Given the description of an element on the screen output the (x, y) to click on. 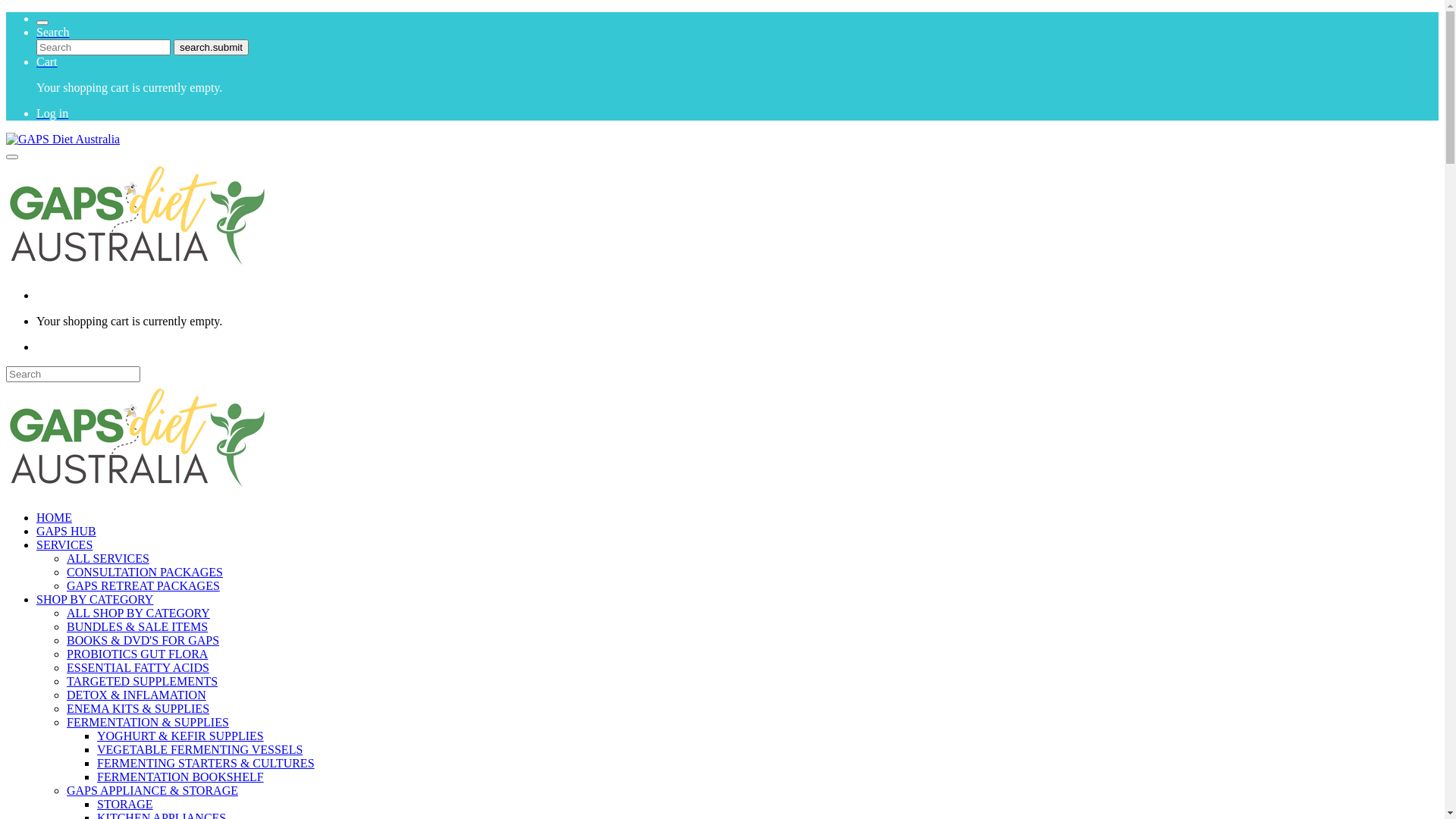
GAPS APPLIANCE & STORAGE Element type: text (152, 790)
SHOP BY CATEGORY Element type: text (94, 599)
VEGETABLE FERMENTING VESSELS Element type: text (199, 749)
Log in Element type: text (52, 112)
TARGETED SUPPLEMENTS Element type: text (141, 680)
ENEMA KITS & SUPPLIES Element type: text (137, 708)
Cart Element type: text (46, 61)
ESSENTIAL FATTY ACIDS Element type: text (137, 667)
FERMENTATION & SUPPLIES Element type: text (147, 721)
GAPS HUB Element type: text (66, 530)
STORAGE Element type: text (125, 803)
FERMENTING STARTERS & CULTURES Element type: text (205, 762)
search.submit Element type: text (210, 47)
ALL SHOP BY CATEGORY Element type: text (138, 612)
ALL SERVICES Element type: text (107, 558)
PROBIOTICS GUT FLORA Element type: text (136, 653)
GAPS RETREAT PACKAGES Element type: text (142, 585)
CONSULTATION PACKAGES Element type: text (144, 571)
SERVICES Element type: text (64, 544)
Search Element type: text (52, 31)
BUNDLES & SALE ITEMS Element type: text (136, 626)
FERMENTATION BOOKSHELF Element type: text (180, 776)
HOME Element type: text (54, 517)
BOOKS & DVD'S FOR GAPS Element type: text (142, 639)
YOGHURT & KEFIR SUPPLIES Element type: text (180, 735)
DETOX & INFLAMATION Element type: text (136, 694)
